Given the description of an element on the screen output the (x, y) to click on. 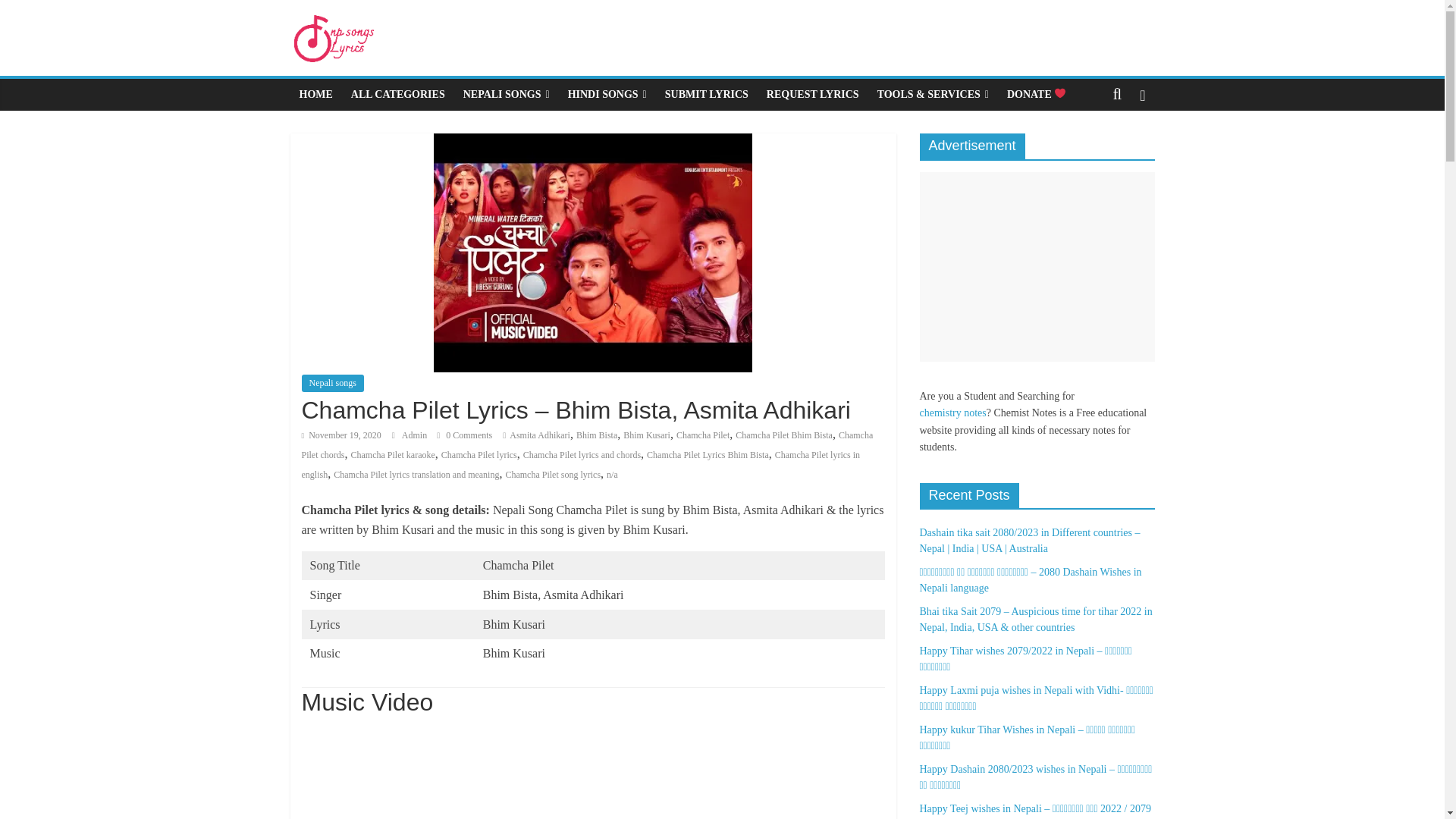
Chamcha Pilet chords (587, 444)
Chamcha Pilet Bhim Bista (783, 434)
Chamcha Pilet lyrics in english (580, 464)
HOME (314, 94)
Advertisement (1036, 266)
0 Comments (464, 434)
Chamcha Pilet Lyrics Bhim Bista (707, 454)
Bhim Bista (596, 434)
NEPALI SONGS (506, 94)
November 19, 2020 (341, 434)
DONATE (1036, 94)
Chamcha Pilet lyrics translation and meaning (416, 474)
ALL CATEGORIES (398, 94)
Chamcha Pilet lyrics (478, 454)
HINDI SONGS (607, 94)
